Given the description of an element on the screen output the (x, y) to click on. 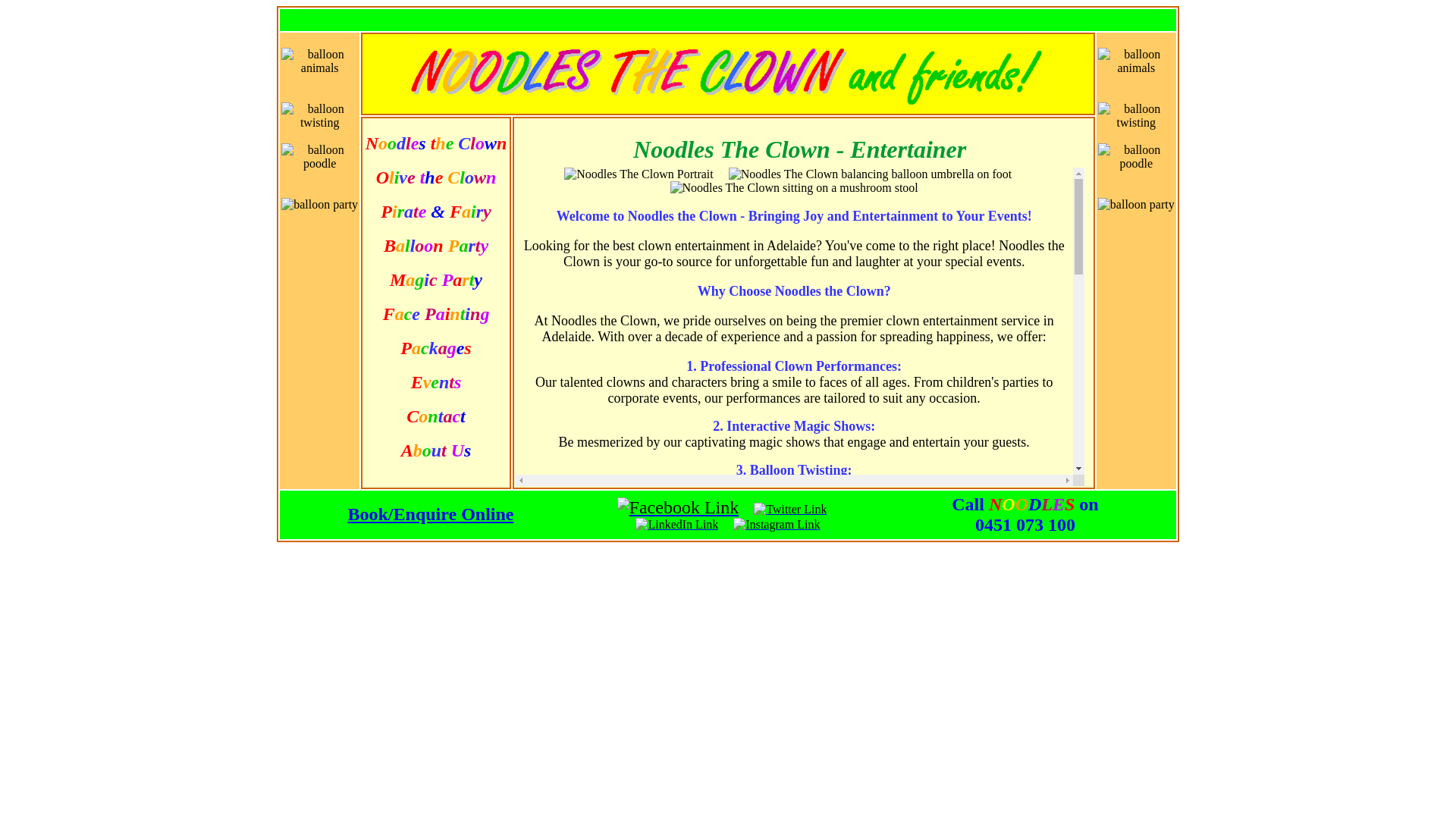
Contact us Element type: text (819, 680)
Balloon Party Element type: text (435, 247)
Events Element type: text (436, 383)
Olive the Clown Element type: text (436, 178)
Face Painting Element type: text (435, 315)
About Us Element type: text (436, 451)
Pirate & Fairy Element type: text (435, 213)
Book/Enquire Online Element type: text (431, 514)
Noodles the Clown Element type: text (436, 144)
Contact Element type: text (435, 417)
Packages Element type: text (435, 349)
Magic Party Element type: text (435, 281)
